Given the description of an element on the screen output the (x, y) to click on. 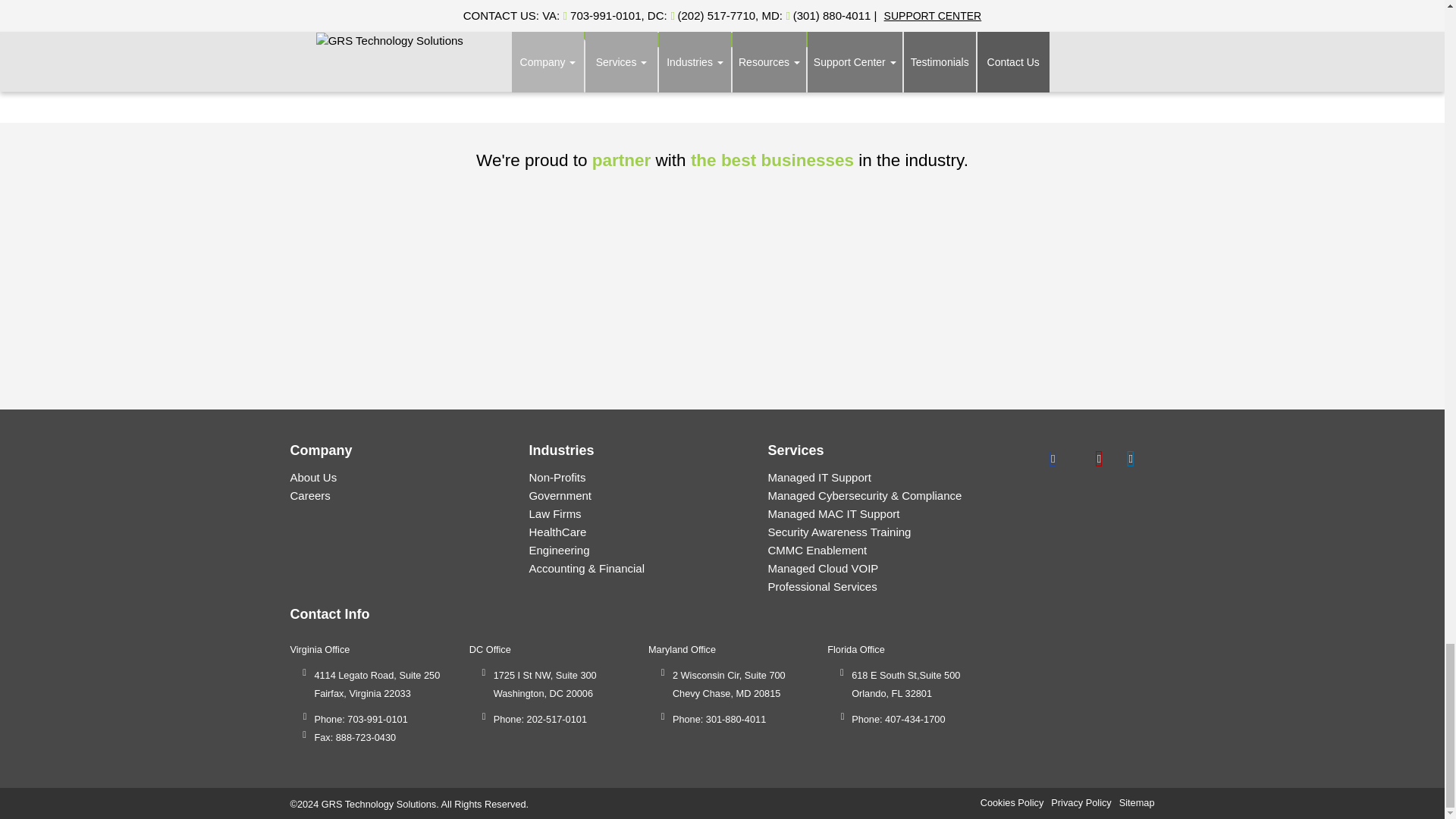
Follow us on Facebook (1053, 456)
Careers (309, 495)
Privacy Policy (1080, 802)
Engineering (558, 549)
Watch us on Youtube (1130, 456)
Law Firms (554, 513)
Non-Profits (556, 477)
HealthCare (557, 531)
About Us (312, 477)
Government (559, 495)
